Given the description of an element on the screen output the (x, y) to click on. 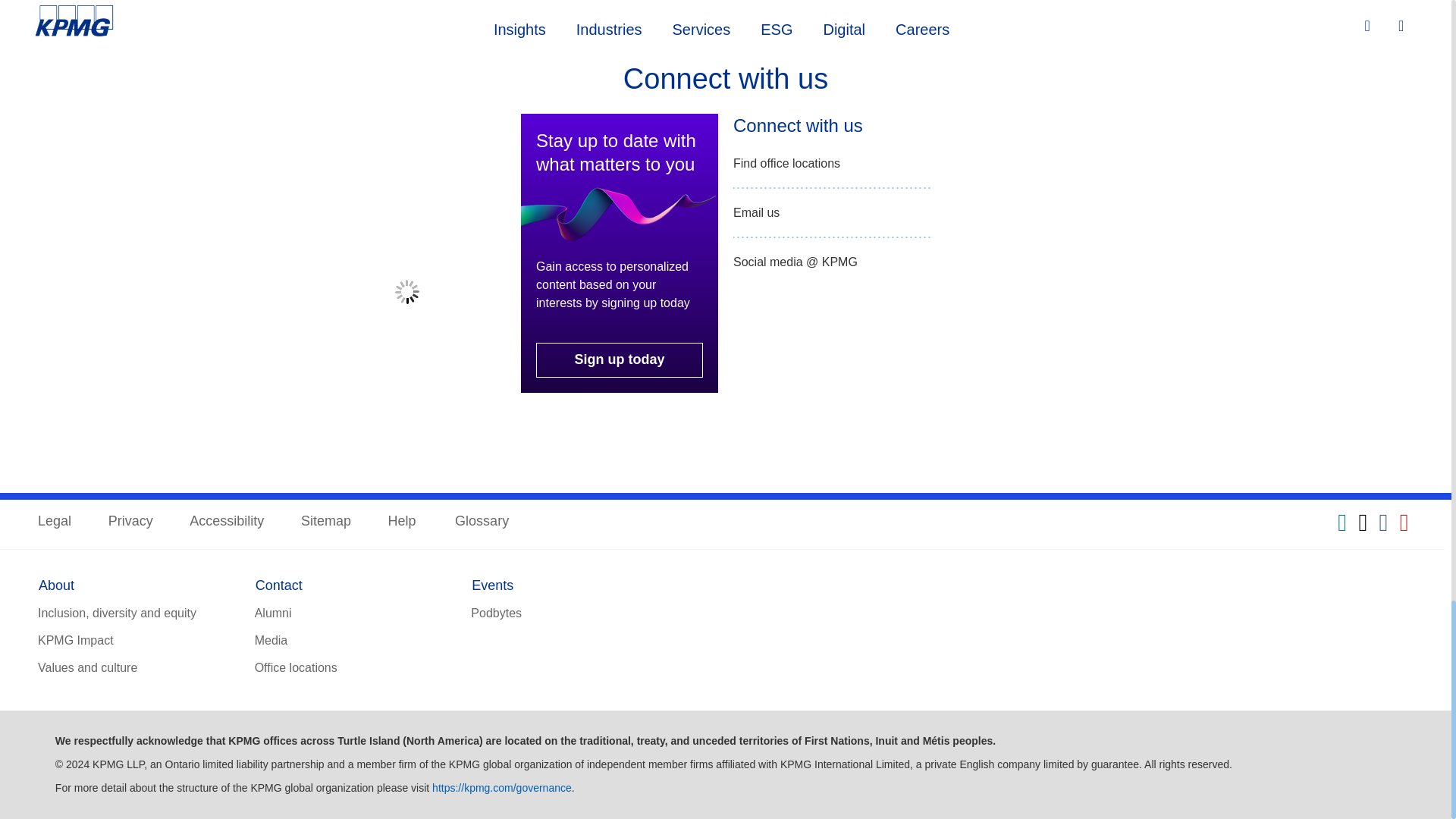
Sign up today (619, 359)
